Given the description of an element on the screen output the (x, y) to click on. 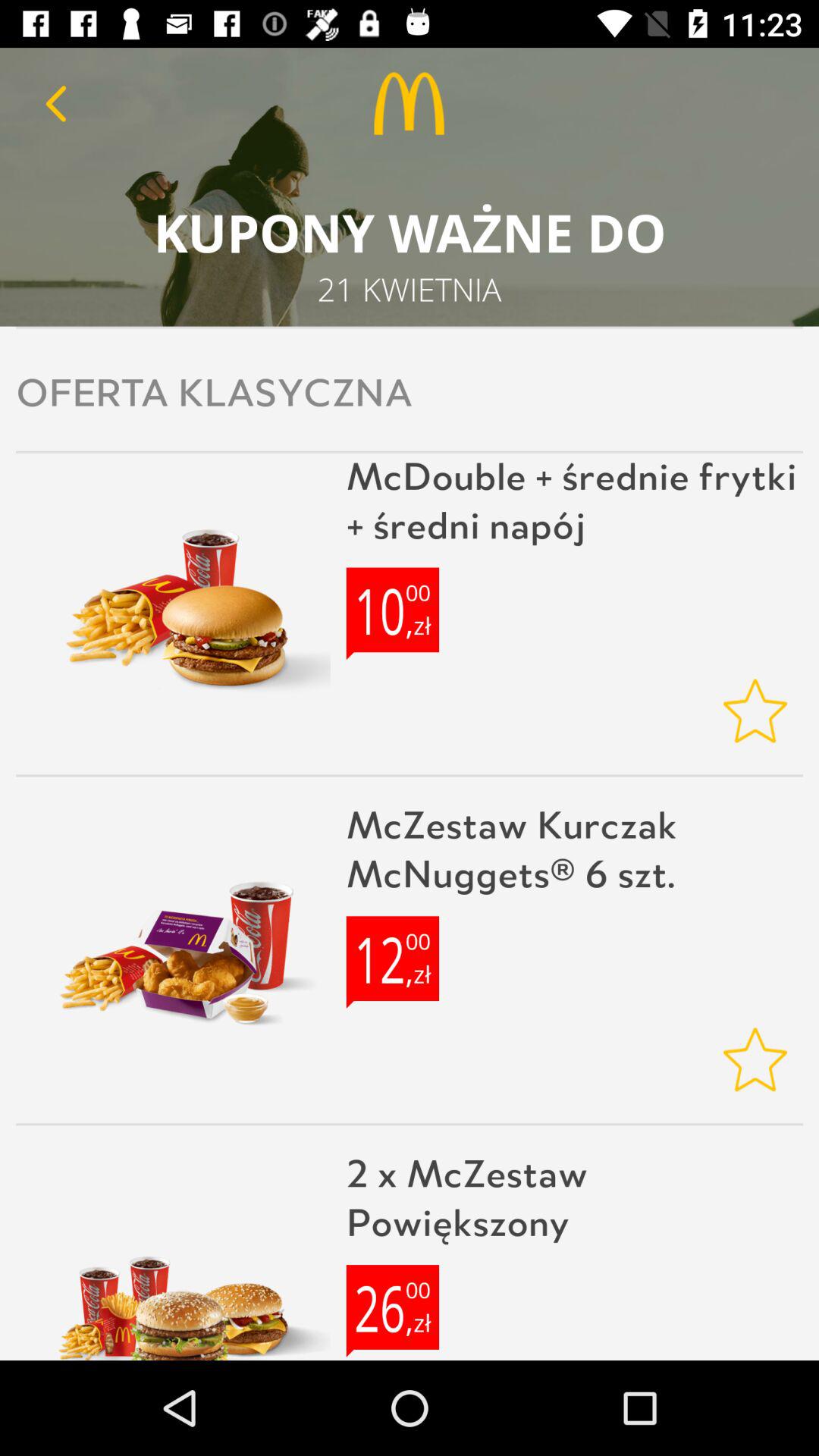
rating option (755, 710)
